Given the description of an element on the screen output the (x, y) to click on. 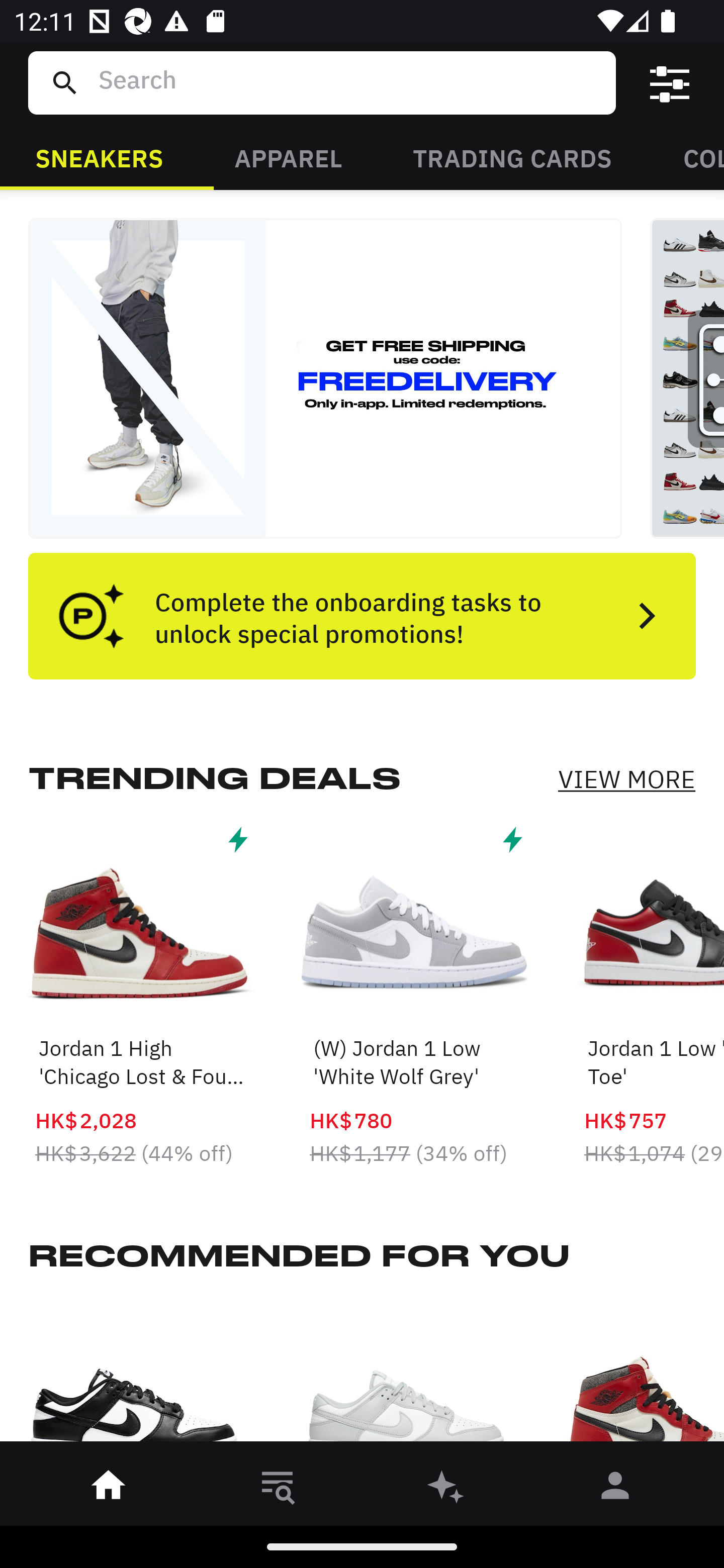
Search (349, 82)
 (669, 82)
SNEAKERS (99, 156)
APPAREL (287, 156)
TRADING CARDS (512, 156)
VIEW MORE (626, 779)
󰋜 (108, 1488)
󱎸 (277, 1488)
󰫢 (446, 1488)
󰀄 (615, 1488)
